Given the description of an element on the screen output the (x, y) to click on. 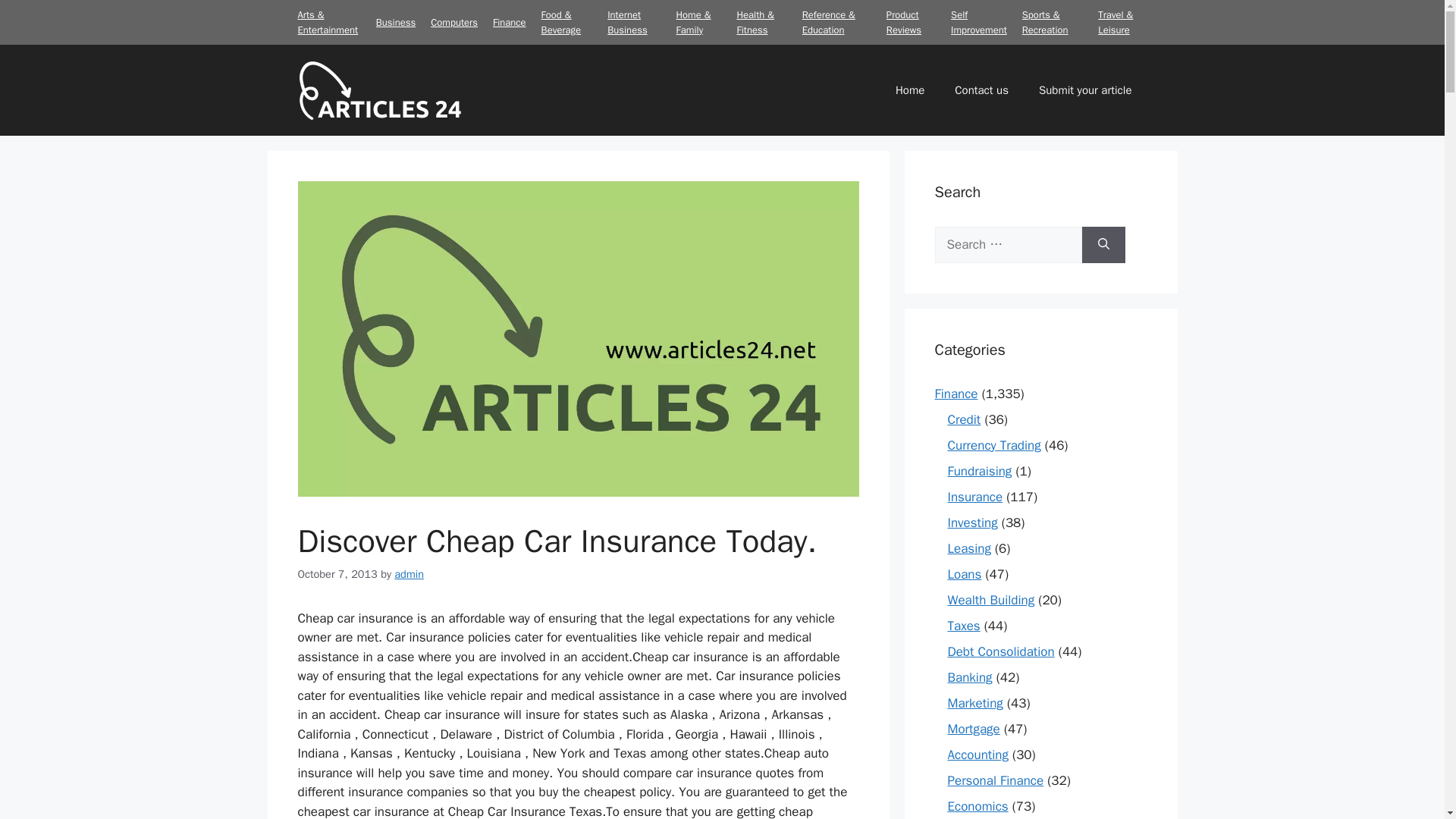
admin (408, 573)
Currency Trading (994, 444)
Submit your article (1085, 90)
Finance (509, 21)
Contact us (981, 90)
View all posts by admin (408, 573)
Finance (955, 392)
Product Reviews (903, 22)
Self Improvement (978, 22)
Business (394, 21)
Search for: (1007, 244)
Computers (453, 21)
Credit (964, 418)
Home (909, 90)
Internet Business (626, 22)
